Given the description of an element on the screen output the (x, y) to click on. 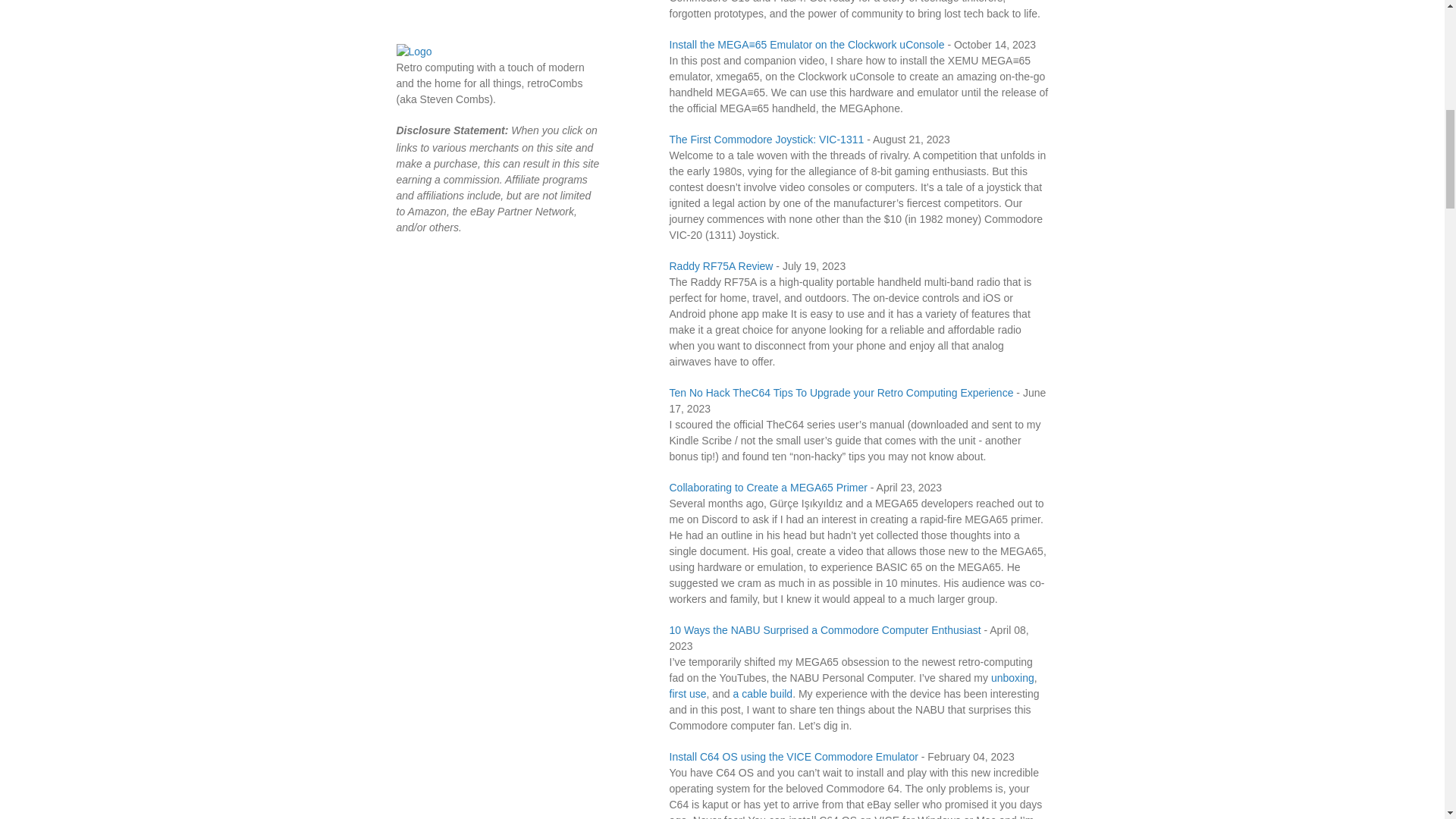
10 Ways the NABU Surprised a Commodore Computer Enthusiast (823, 630)
The First Commodore Joystick: VIC-1311 (765, 139)
Collaborating to Create a MEGA65 Primer (767, 487)
Raddy RF75A Review (720, 265)
